Given the description of an element on the screen output the (x, y) to click on. 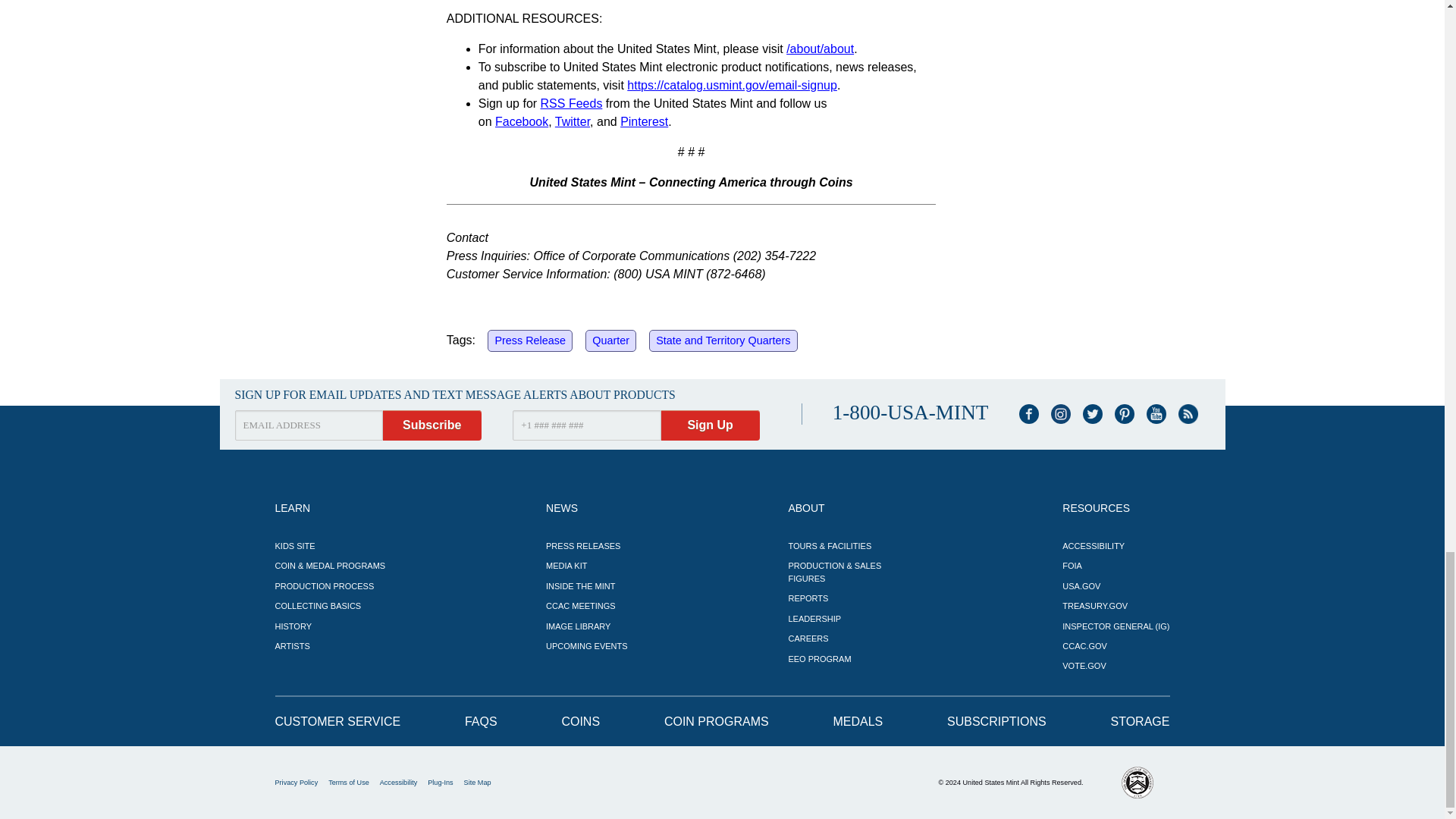
Sign Up (710, 425)
Subscribe (431, 425)
